Given the description of an element on the screen output the (x, y) to click on. 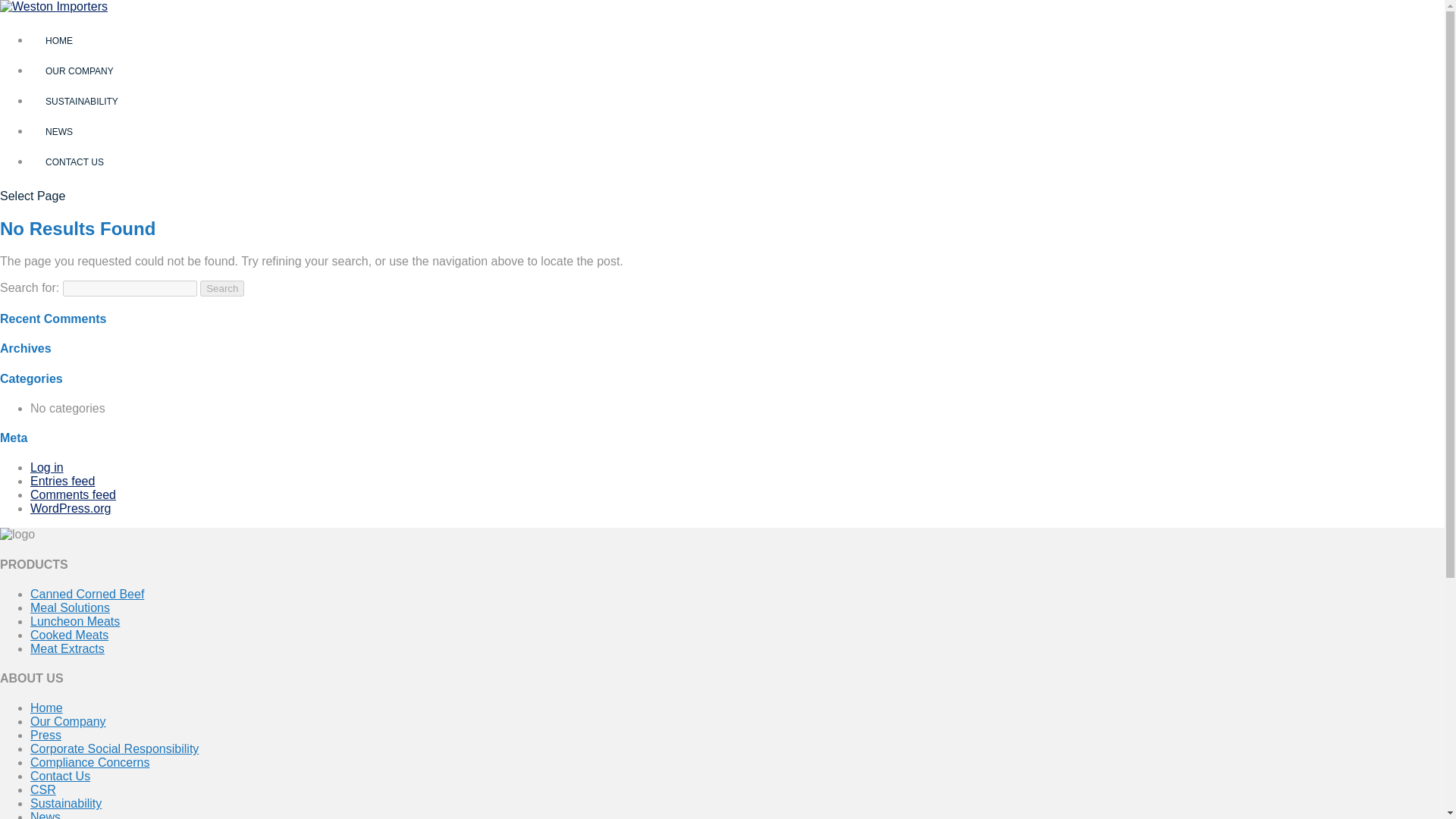
OUR COMPANY (79, 71)
Meat Extracts (67, 648)
SUSTAINABILITY (81, 101)
Entries feed (62, 481)
Meal Solutions (70, 607)
Search (222, 288)
Log in (47, 467)
Sustainability (65, 802)
Corporate Social Responsibility (114, 748)
Comments feed (73, 494)
